Given the description of an element on the screen output the (x, y) to click on. 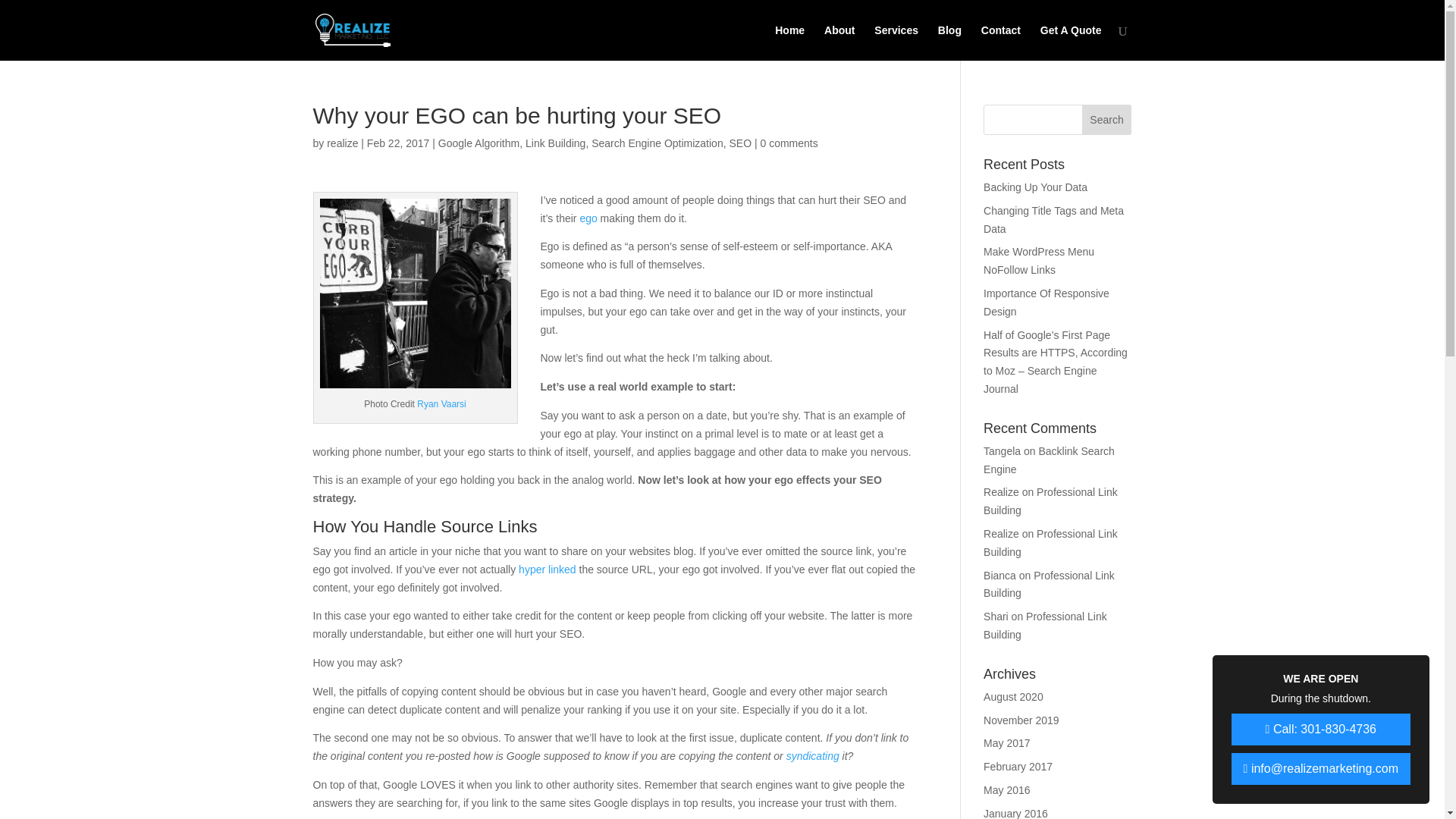
August 2020 (1013, 696)
Backlink Search Engine (1049, 460)
Professional Link Building (1049, 584)
Search (1106, 119)
Professional Link Building (1051, 542)
Get A Quote (1071, 42)
Contact (1000, 42)
Tangela (1002, 451)
Posts by realize (342, 143)
November 2019 (1021, 720)
